Given the description of an element on the screen output the (x, y) to click on. 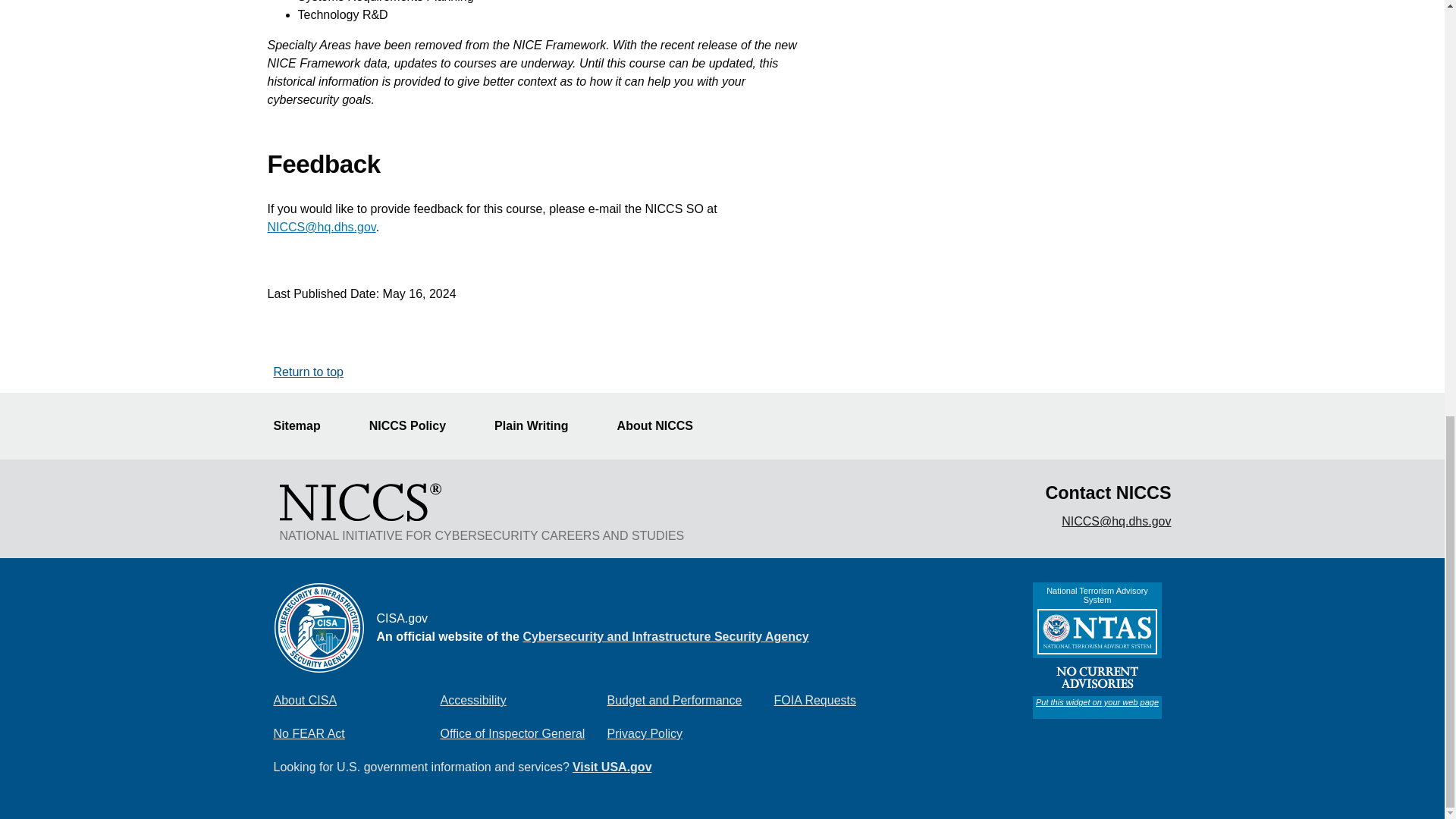
NICCS Policy (416, 426)
About NICCS (664, 426)
Cybersecurity and Infrastructure Security Agency (665, 635)
About NICCS (664, 426)
Office of Inspector General (523, 734)
Privacy Policy (690, 734)
National Terrorism Advisory System (1096, 650)
Visit USA.gov (612, 767)
Visit the USA.gov website (612, 767)
National Initiative for Cybersecurity Careers and Studies (360, 502)
